Given the description of an element on the screen output the (x, y) to click on. 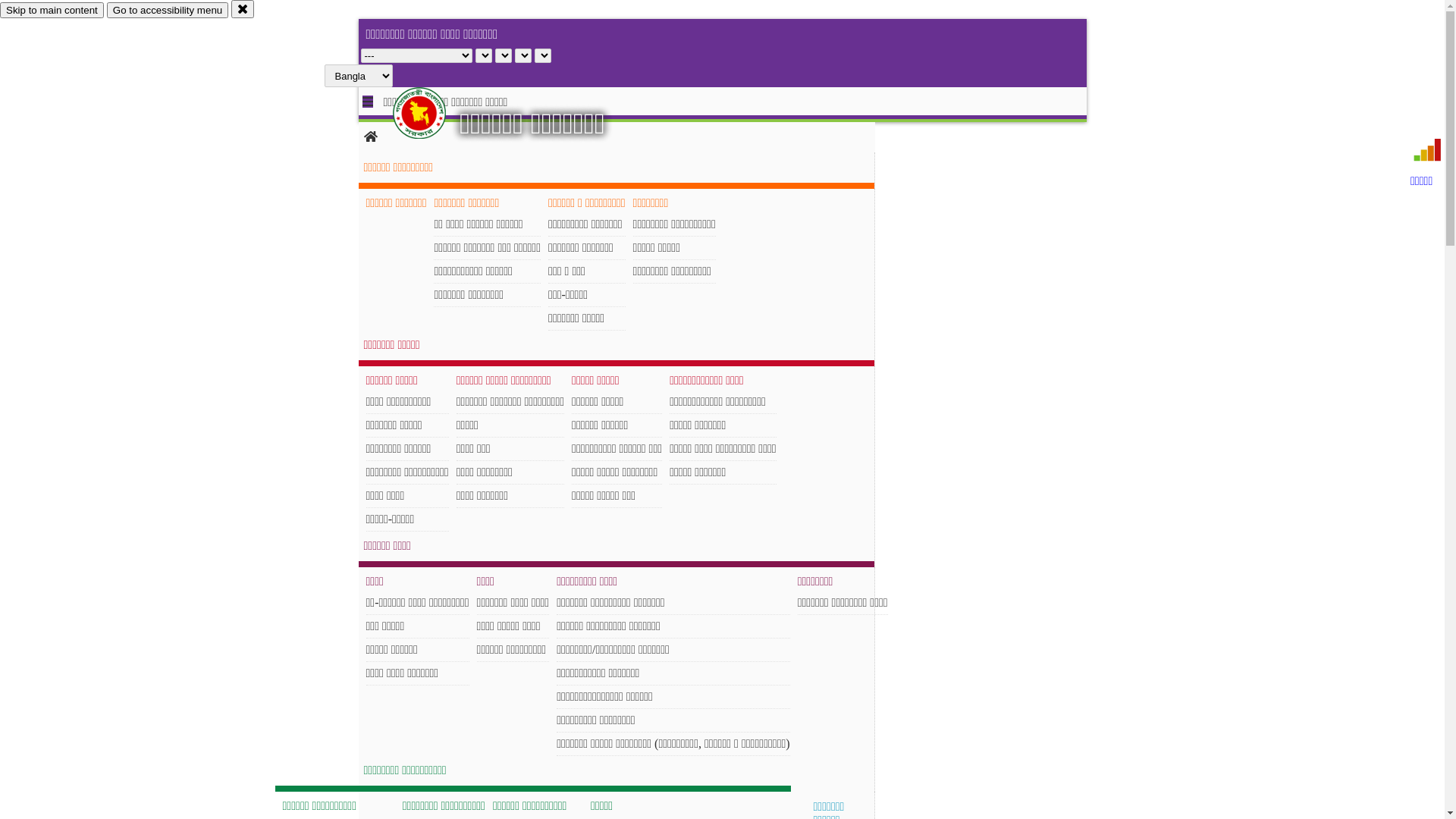
Go to accessibility menu Element type: text (167, 10)
close Element type: hover (242, 9)

                
             Element type: hover (431, 112)
Skip to main content Element type: text (51, 10)
